Given the description of an element on the screen output the (x, y) to click on. 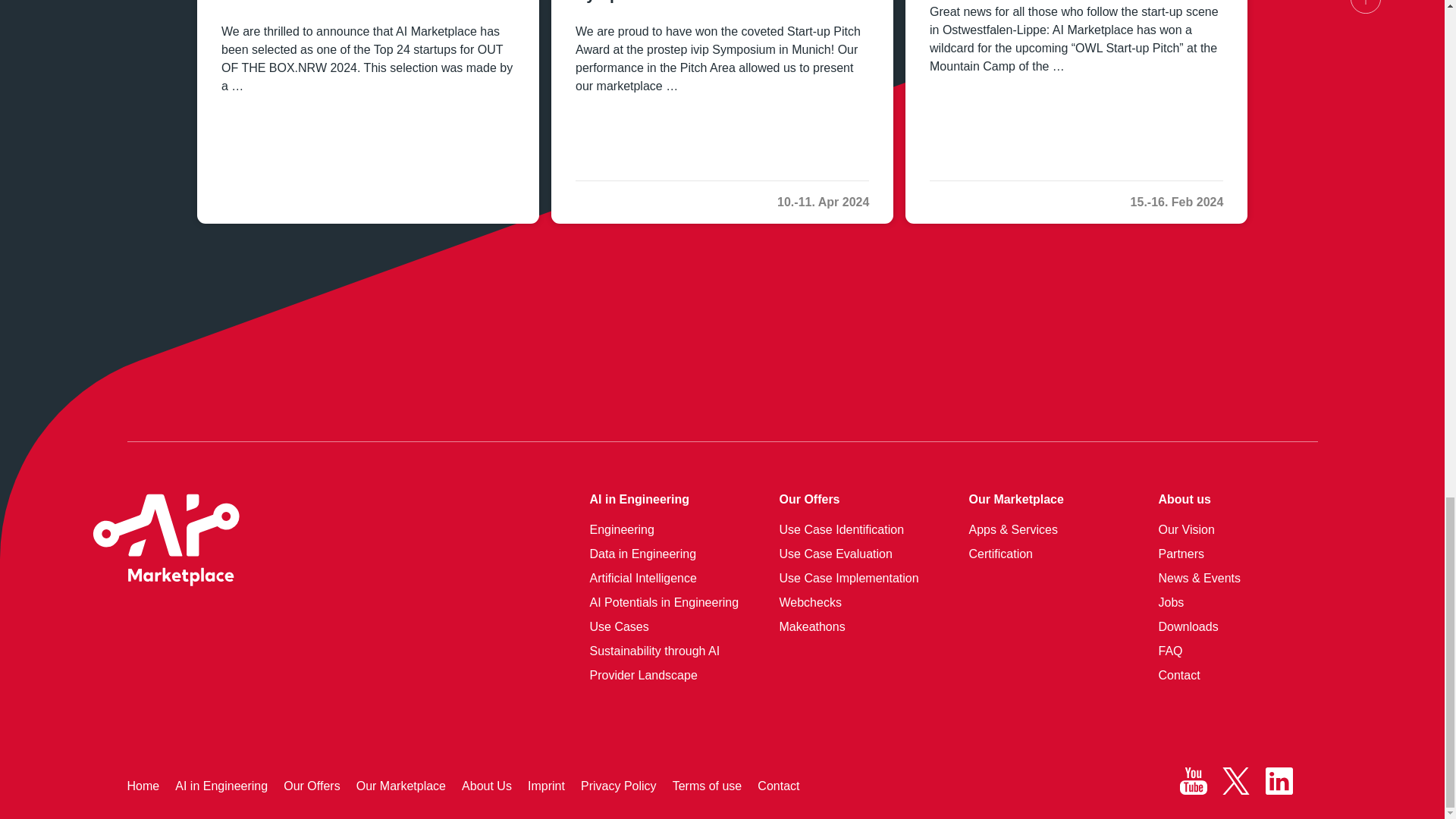
Data in Engineering (643, 554)
AI Potentials in Engineering (664, 602)
Artificial Intelligence (643, 578)
AI in Engineering (639, 499)
Engineering (621, 529)
